Given the description of an element on the screen output the (x, y) to click on. 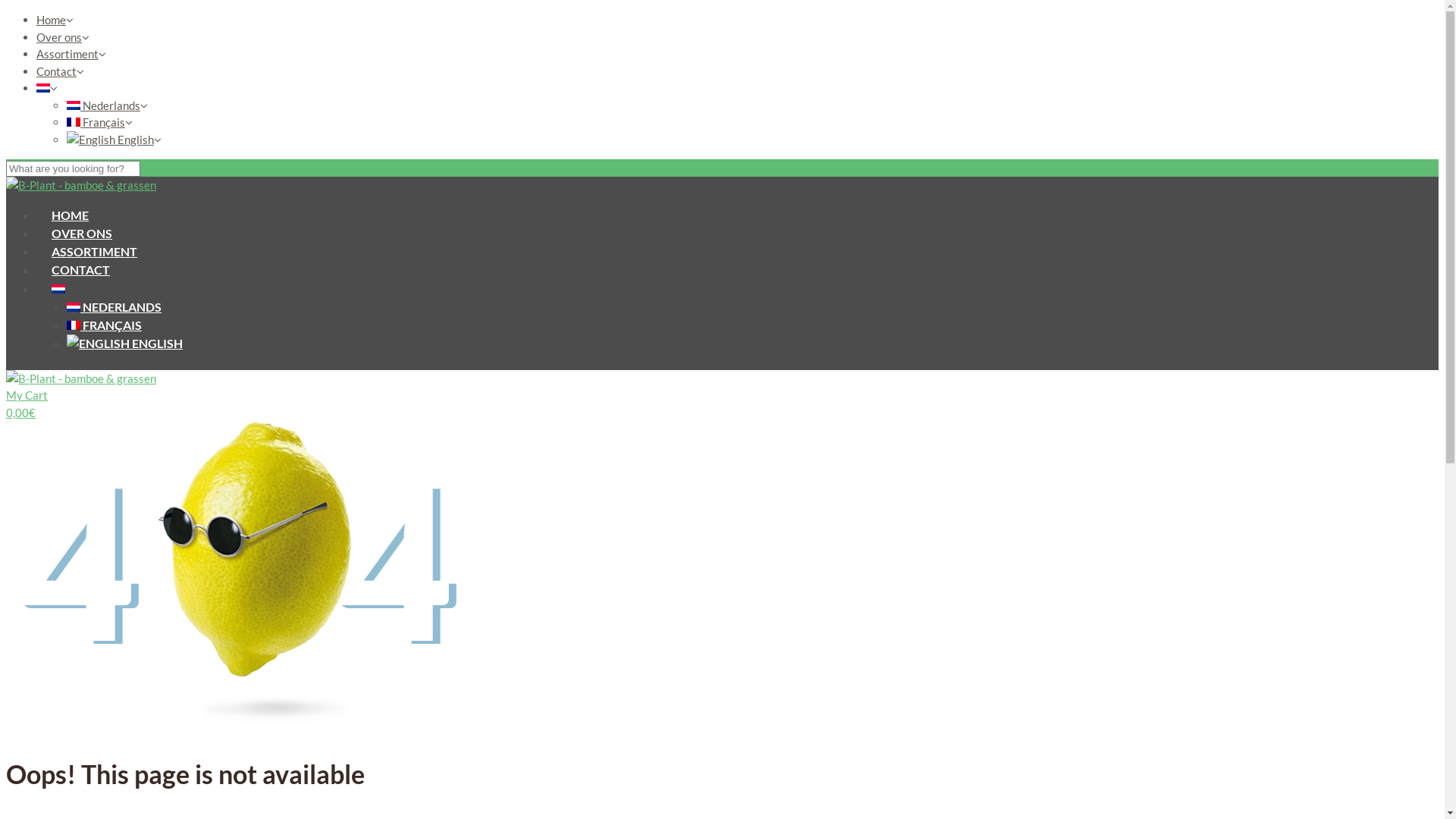
CONTACT Element type: text (80, 268)
OVER ONS Element type: text (81, 232)
B-Plant Element type: hover (81, 378)
 ENGLISH Element type: text (124, 342)
Nederlands Element type: hover (58, 288)
Over ons Element type: text (58, 36)
Contact Element type: text (56, 70)
Assortiment Element type: text (67, 53)
ASSORTIMENT Element type: text (94, 250)
 English Element type: text (109, 138)
Nederlands Element type: hover (43, 87)
 Nederlands Element type: text (103, 105)
HOME Element type: text (69, 214)
Home Element type: text (50, 19)
 NEDERLANDS Element type: text (113, 305)
B-Plant Element type: hover (81, 185)
